Given the description of an element on the screen output the (x, y) to click on. 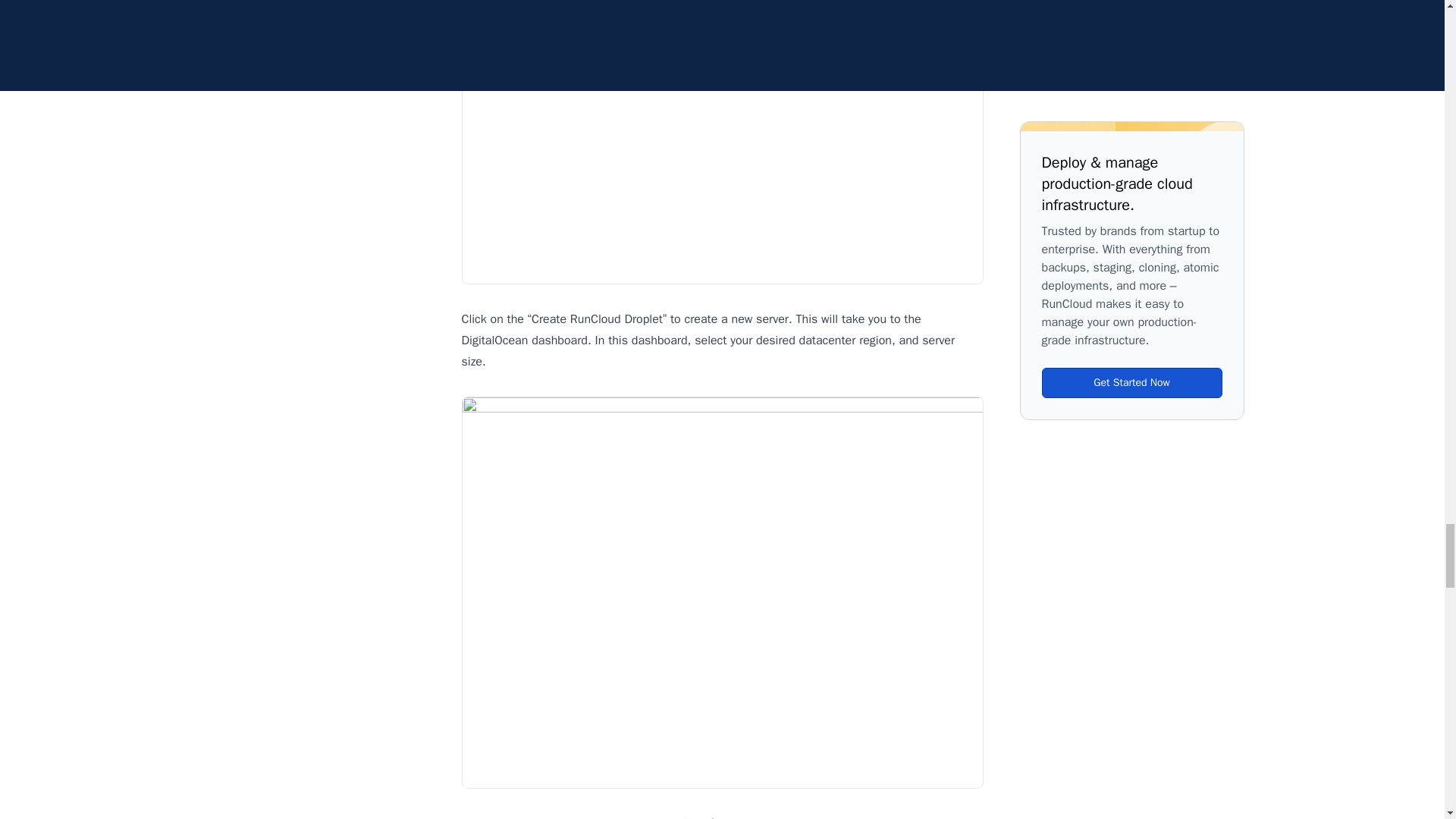
Get Started Now (1132, 11)
